Given the description of an element on the screen output the (x, y) to click on. 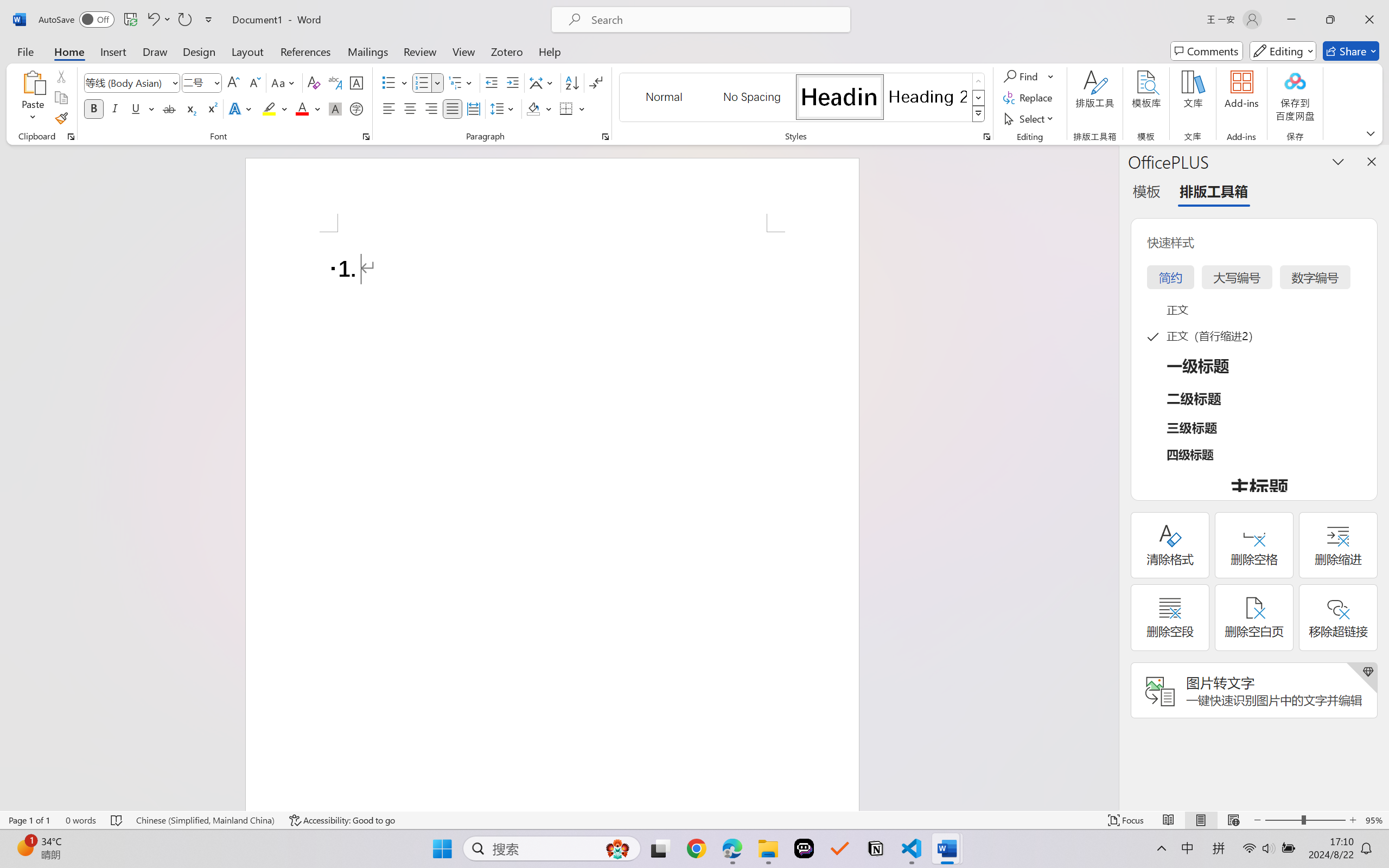
Zoom 95% (1374, 819)
Page 1 content (552, 521)
